Given the description of an element on the screen output the (x, y) to click on. 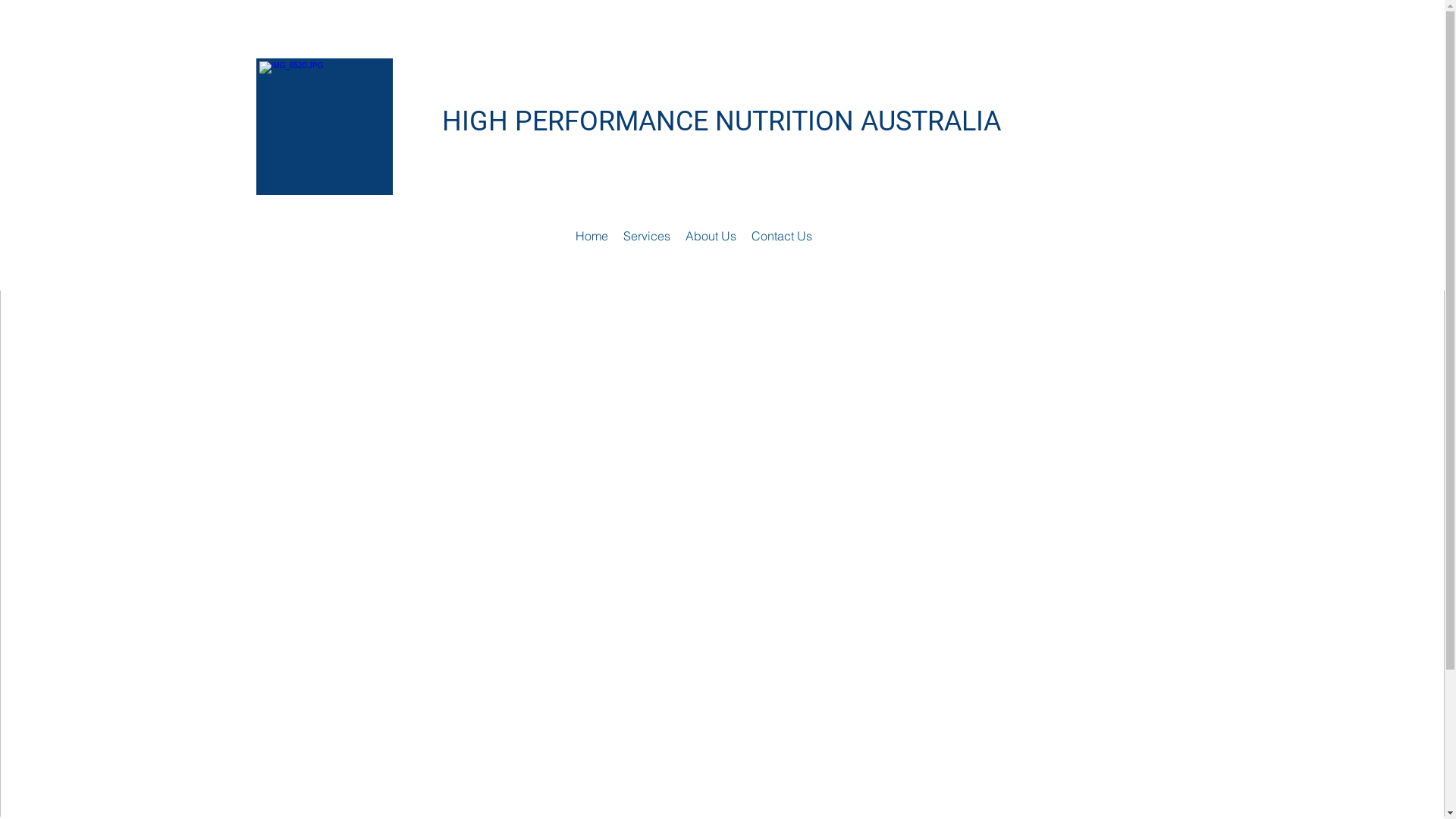
Home Element type: text (591, 235)
Contact Us Element type: text (781, 235)
Services Element type: text (646, 235)
About Us Element type: text (710, 235)
